Given the description of an element on the screen output the (x, y) to click on. 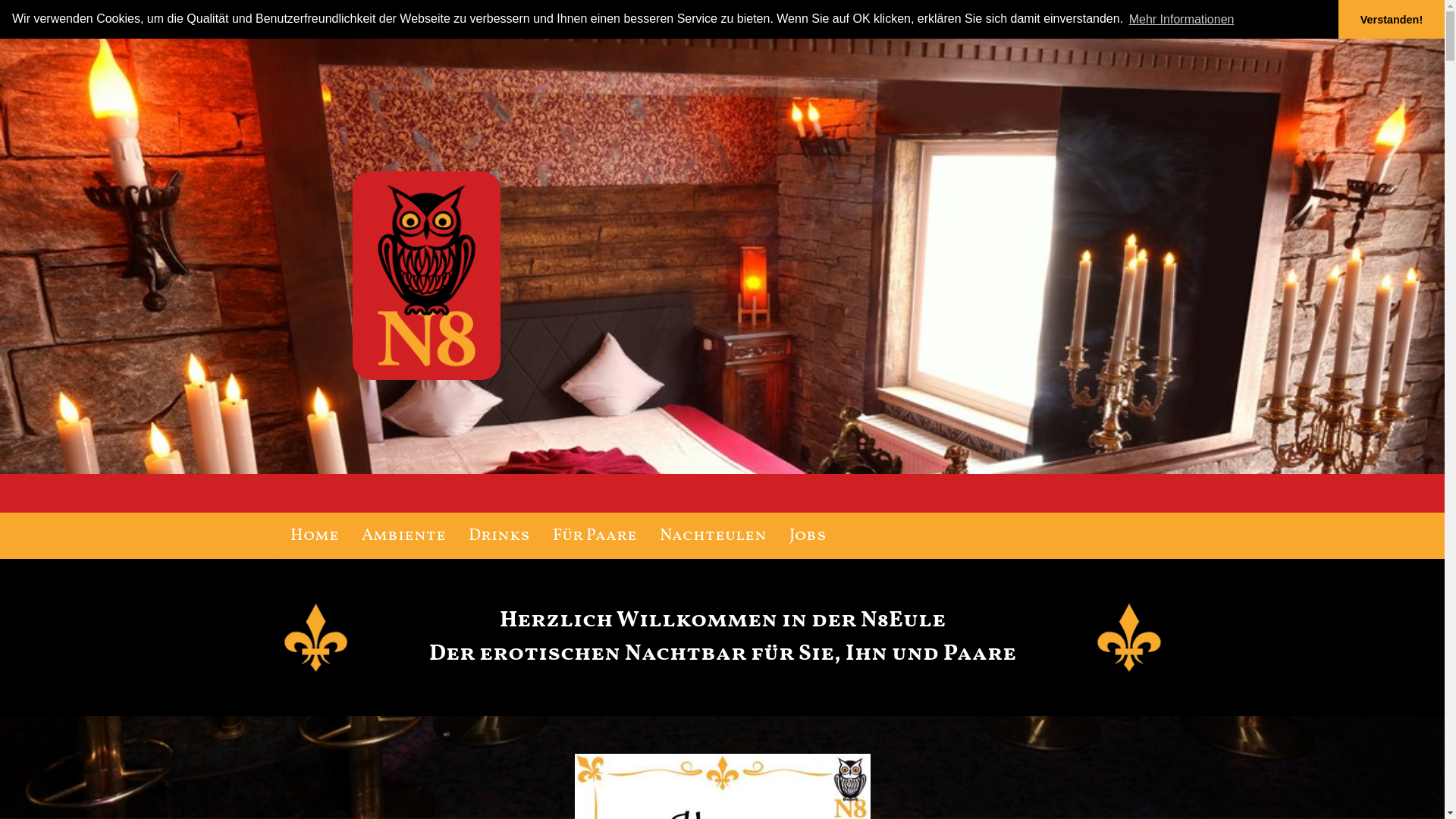
Ambiente Element type: text (403, 535)
Jobs Element type: text (807, 535)
Mehr Informationen Element type: text (1181, 18)
Nachteulen Element type: text (712, 535)
Home Element type: text (314, 535)
Verstanden! Element type: text (1391, 19)
Drinks Element type: text (498, 535)
